Given the description of an element on the screen output the (x, y) to click on. 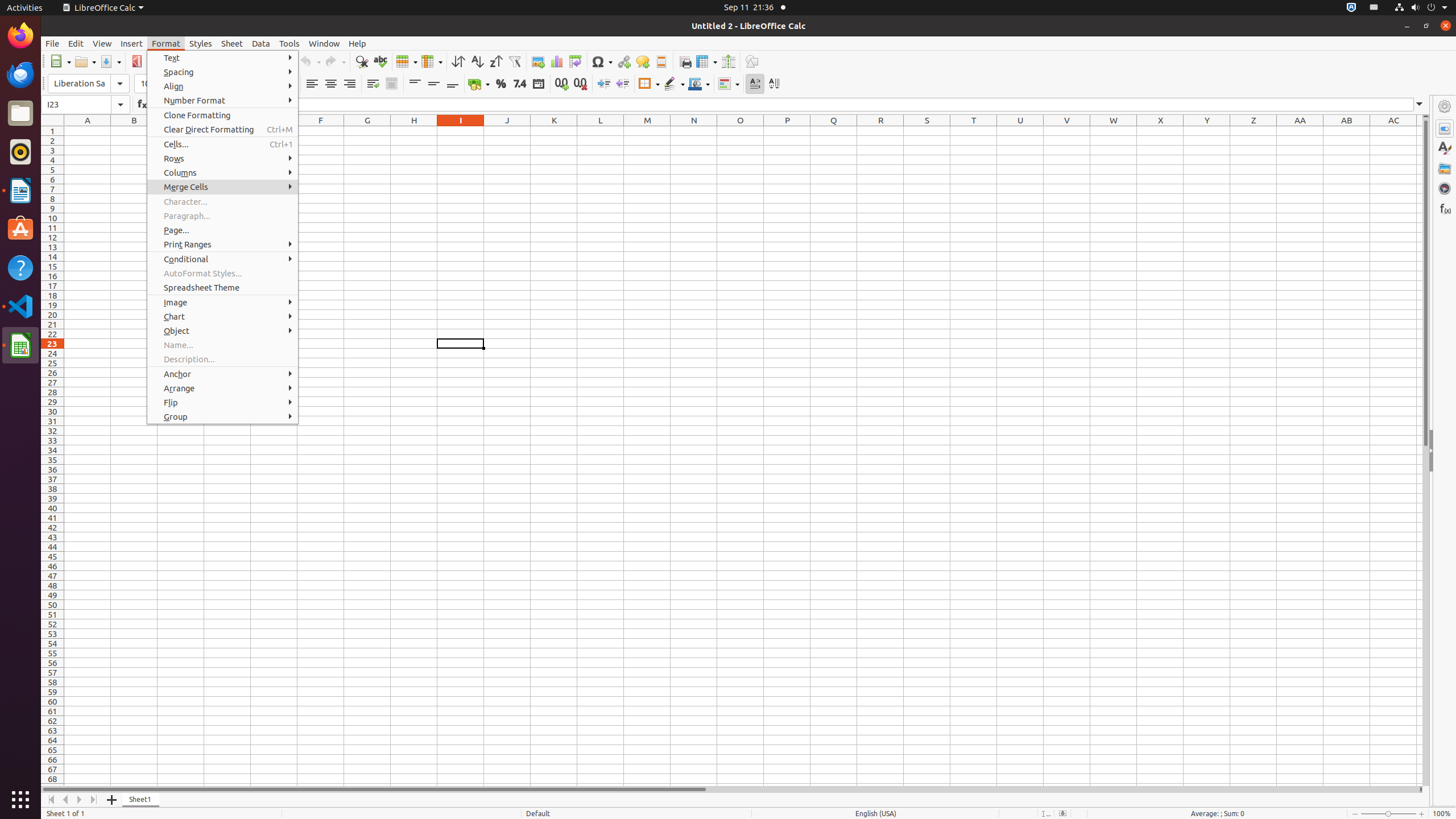
V1 Element type: table-cell (1066, 130)
Flip Element type: menu (222, 402)
